Given the description of an element on the screen output the (x, y) to click on. 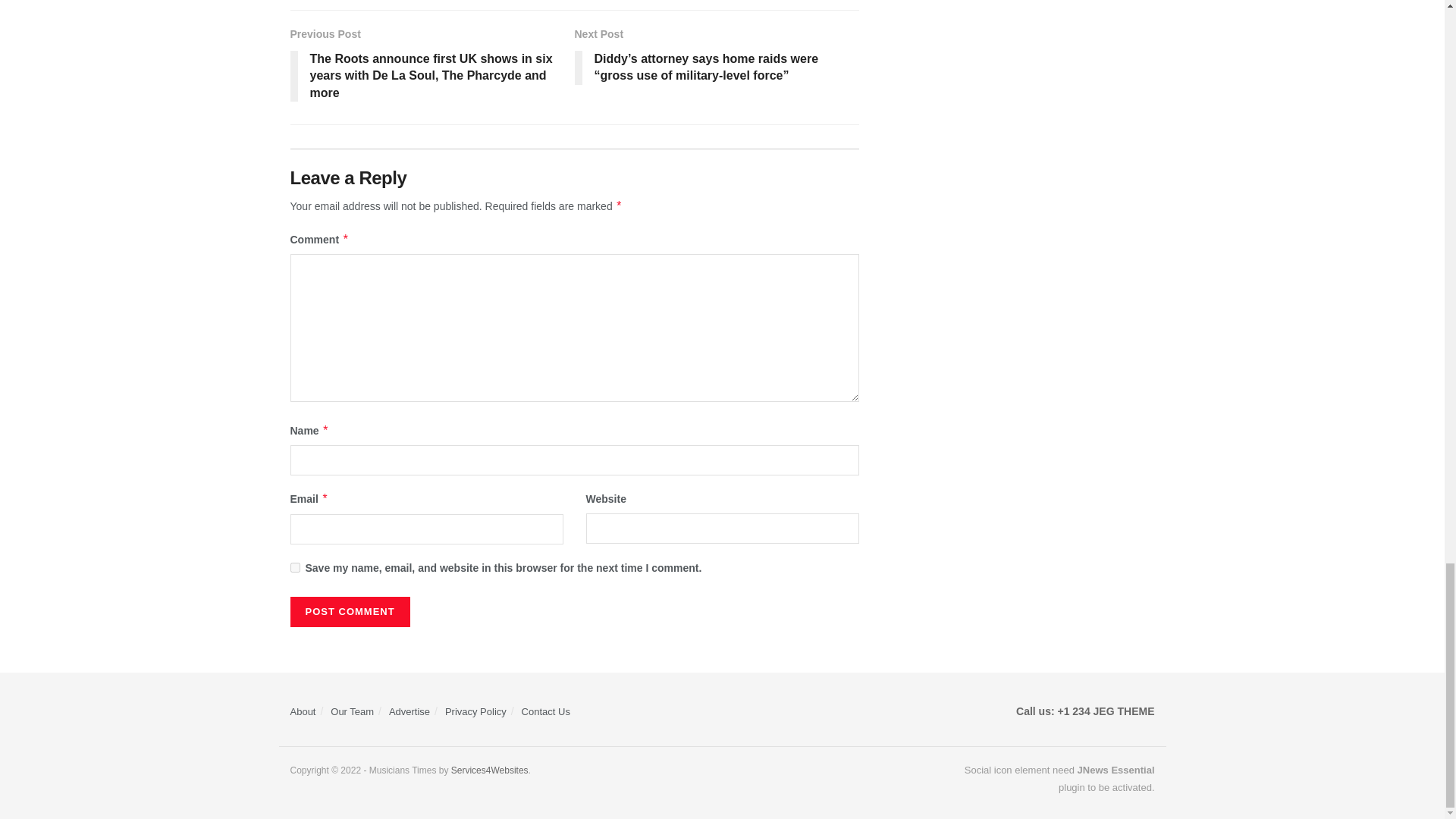
yes (294, 567)
Post Comment (349, 612)
S4W (489, 769)
